Given the description of an element on the screen output the (x, y) to click on. 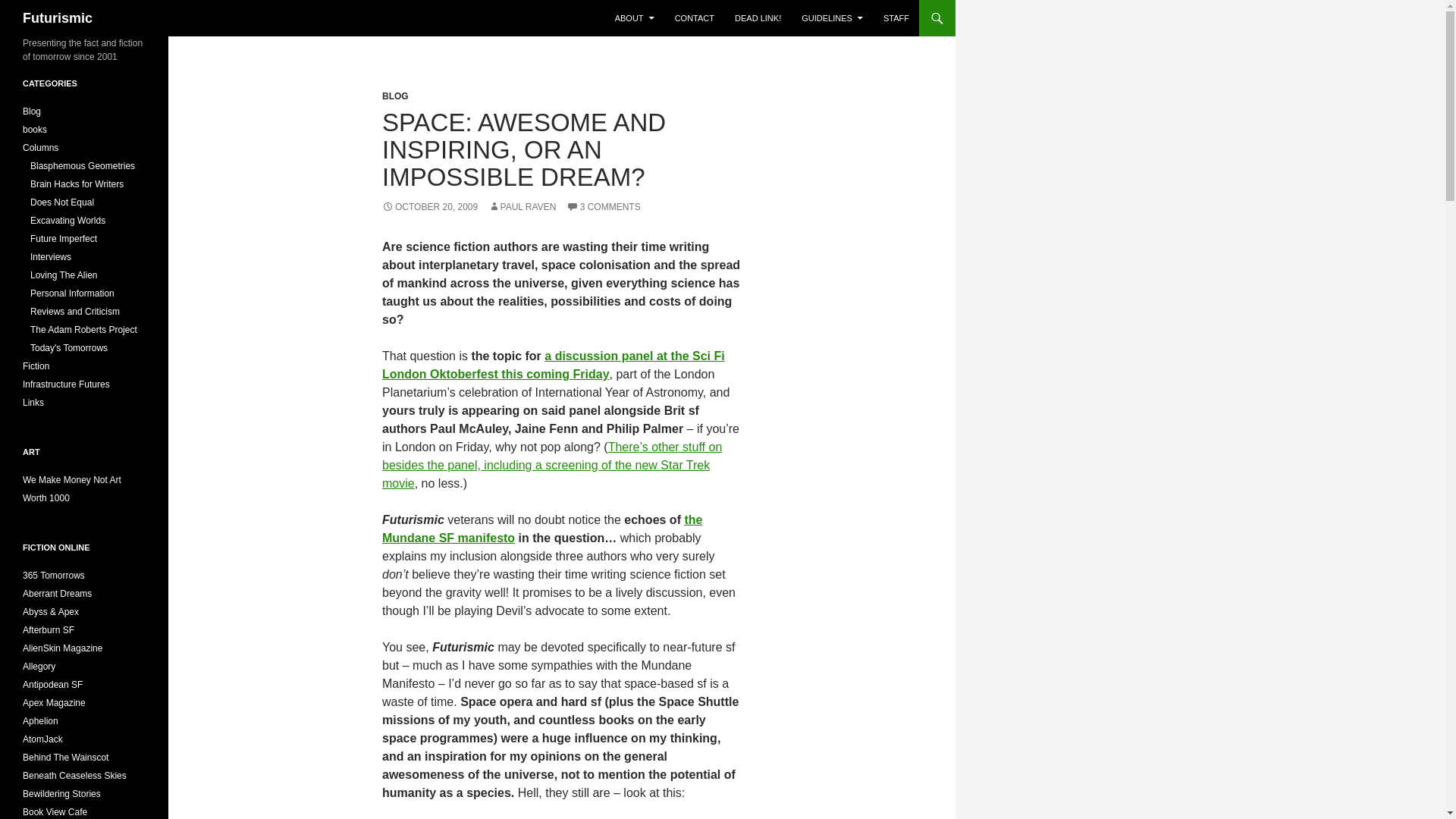
books (34, 129)
CONTACT (694, 18)
PAUL RAVEN (521, 206)
DEAD LINK! (757, 18)
ABOUT (634, 18)
Does Not Equal (62, 202)
3 COMMENTS (603, 206)
SciFi Universe Planetarium Show - SciFi London Oktoberfest (551, 464)
OCTOBER 20, 2009 (429, 206)
